Given the description of an element on the screen output the (x, y) to click on. 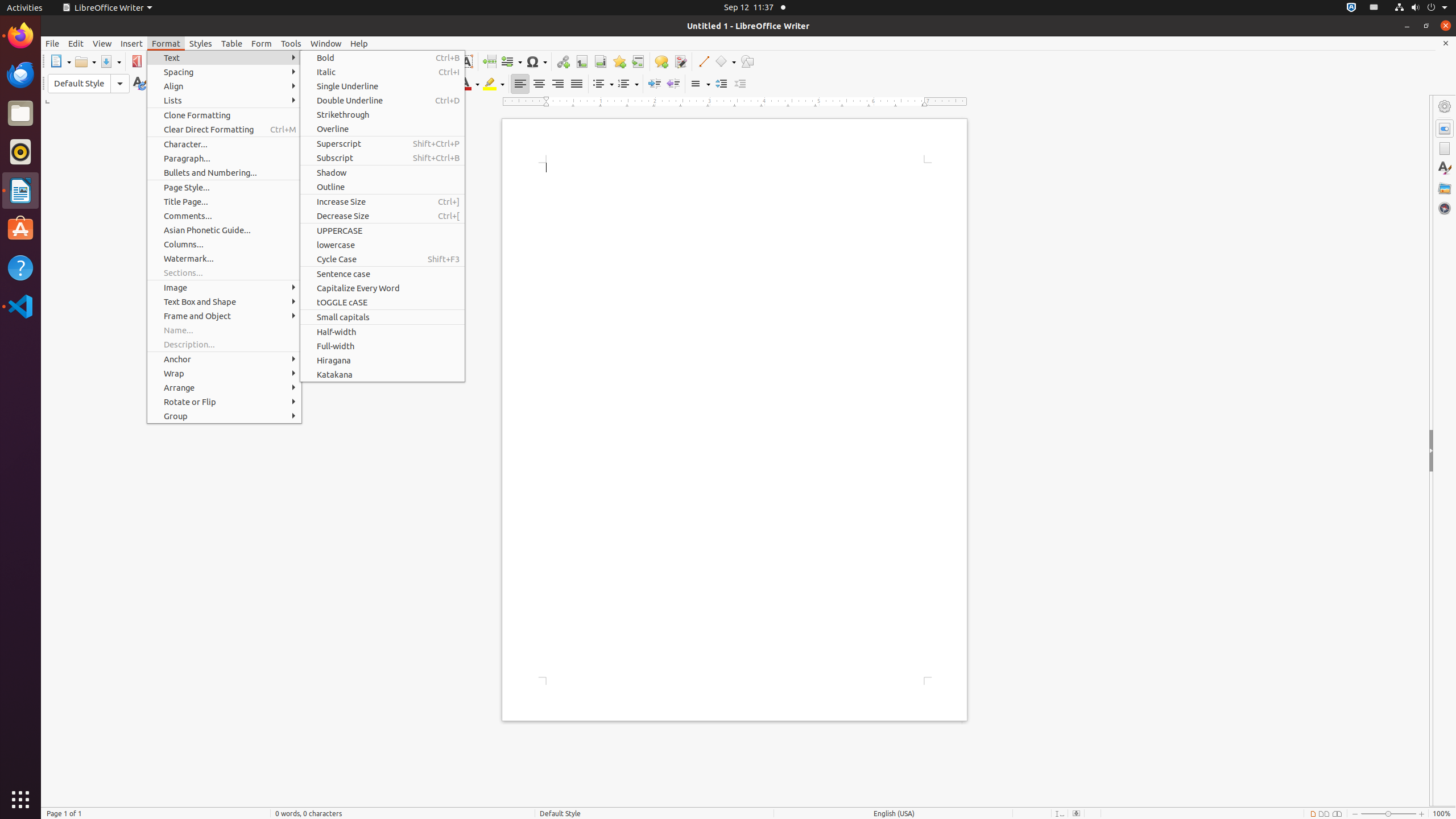
Asian Phonetic Guide... Element type: menu-item (224, 229)
Thunderbird Mail Element type: push-button (20, 74)
LibreOffice Writer Element type: push-button (20, 190)
lowercase Element type: menu-item (382, 244)
Half-width Element type: menu-item (382, 331)
